Given the description of an element on the screen output the (x, y) to click on. 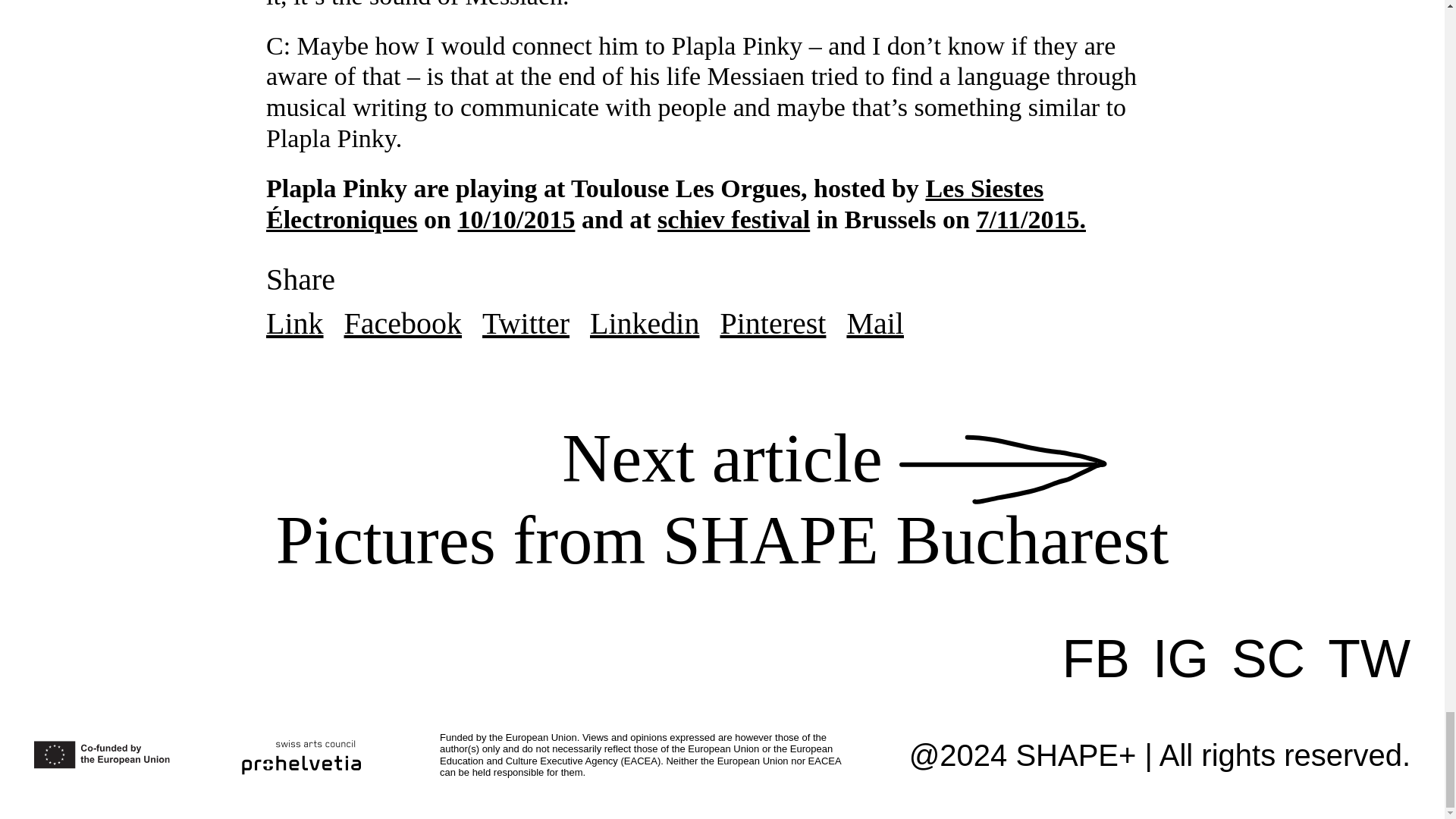
Mail (874, 323)
SC (1267, 659)
Pictures from SHAPE Bucharest (403, 323)
Twitter (294, 323)
Schiev (525, 323)
Schiev (733, 219)
FB (1030, 219)
TW (1095, 659)
schiev festival (1368, 659)
Linkedin (733, 219)
Pinterest (643, 323)
